Given the description of an element on the screen output the (x, y) to click on. 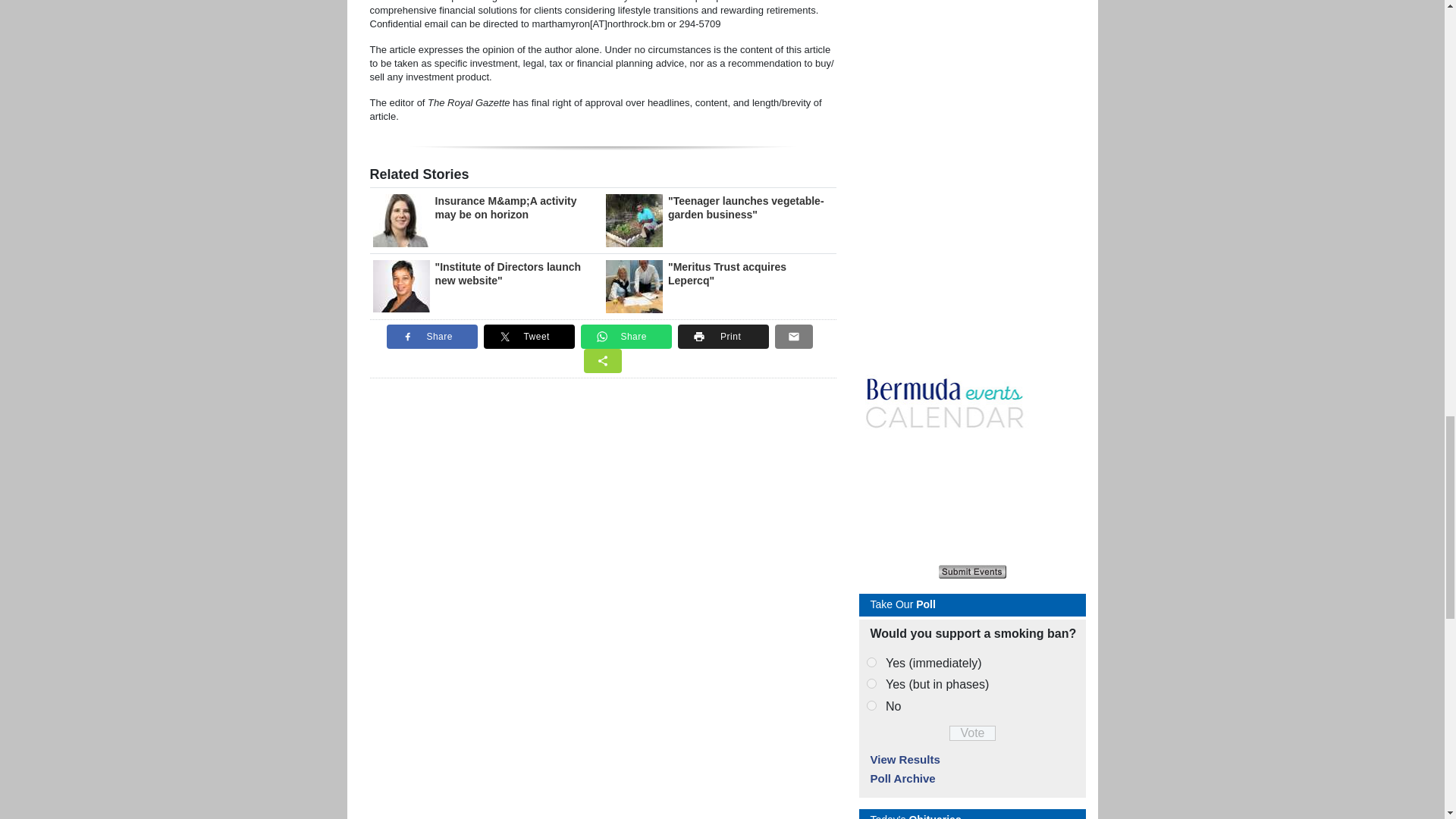
   Vote    (972, 733)
356 (871, 705)
354 (871, 661)
355 (871, 683)
